Given the description of an element on the screen output the (x, y) to click on. 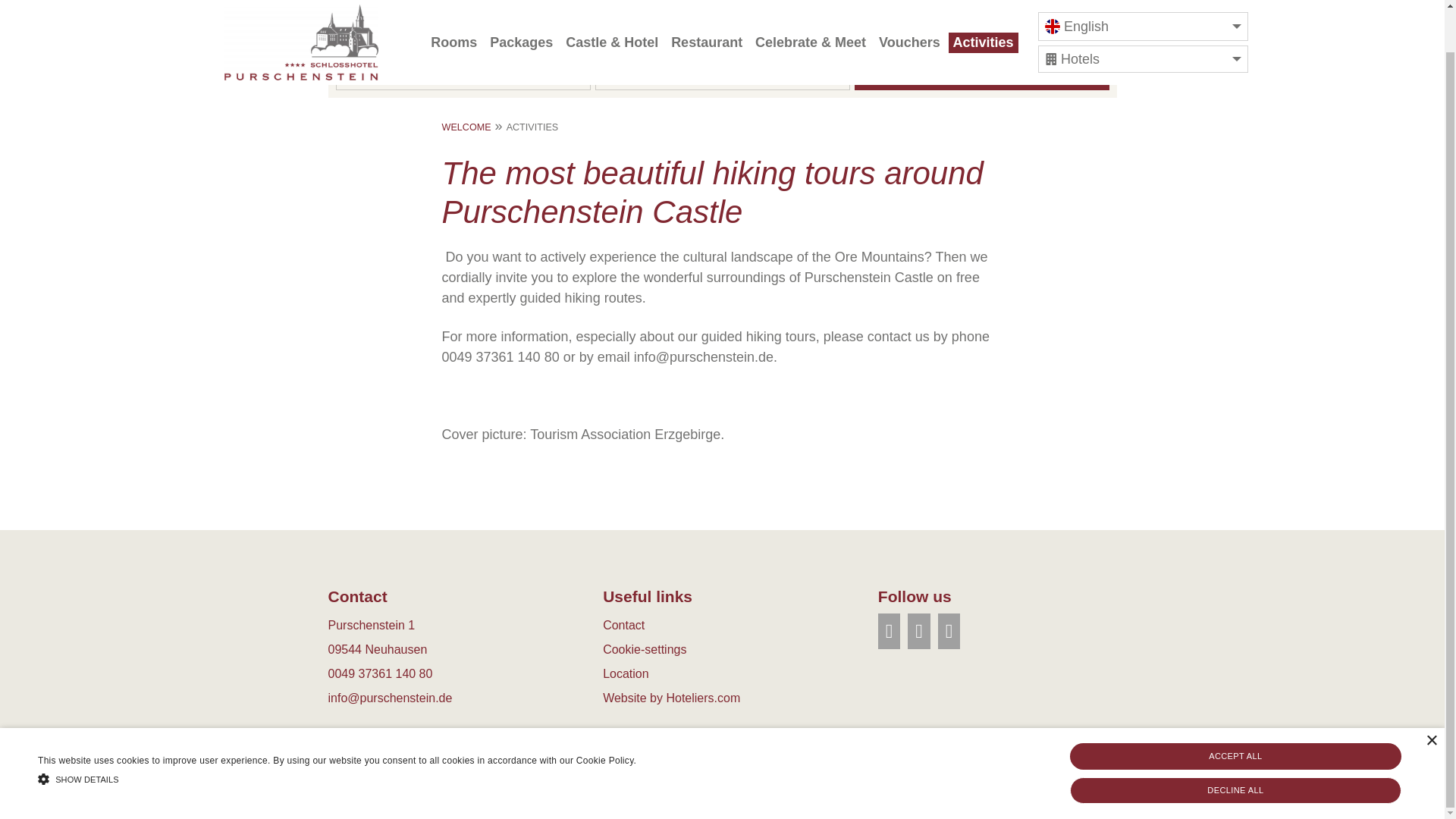
Vouchers (909, 4)
Book (980, 76)
Location (625, 673)
ACTIVITIES (532, 127)
Packages (520, 4)
WELCOME (465, 127)
Read more (662, 716)
Contact (623, 625)
Restaurant (706, 4)
Book (980, 76)
Website by Hoteliers.com (670, 697)
Cookie-settings (643, 649)
Rooms (453, 4)
Activities (983, 4)
